Given the description of an element on the screen output the (x, y) to click on. 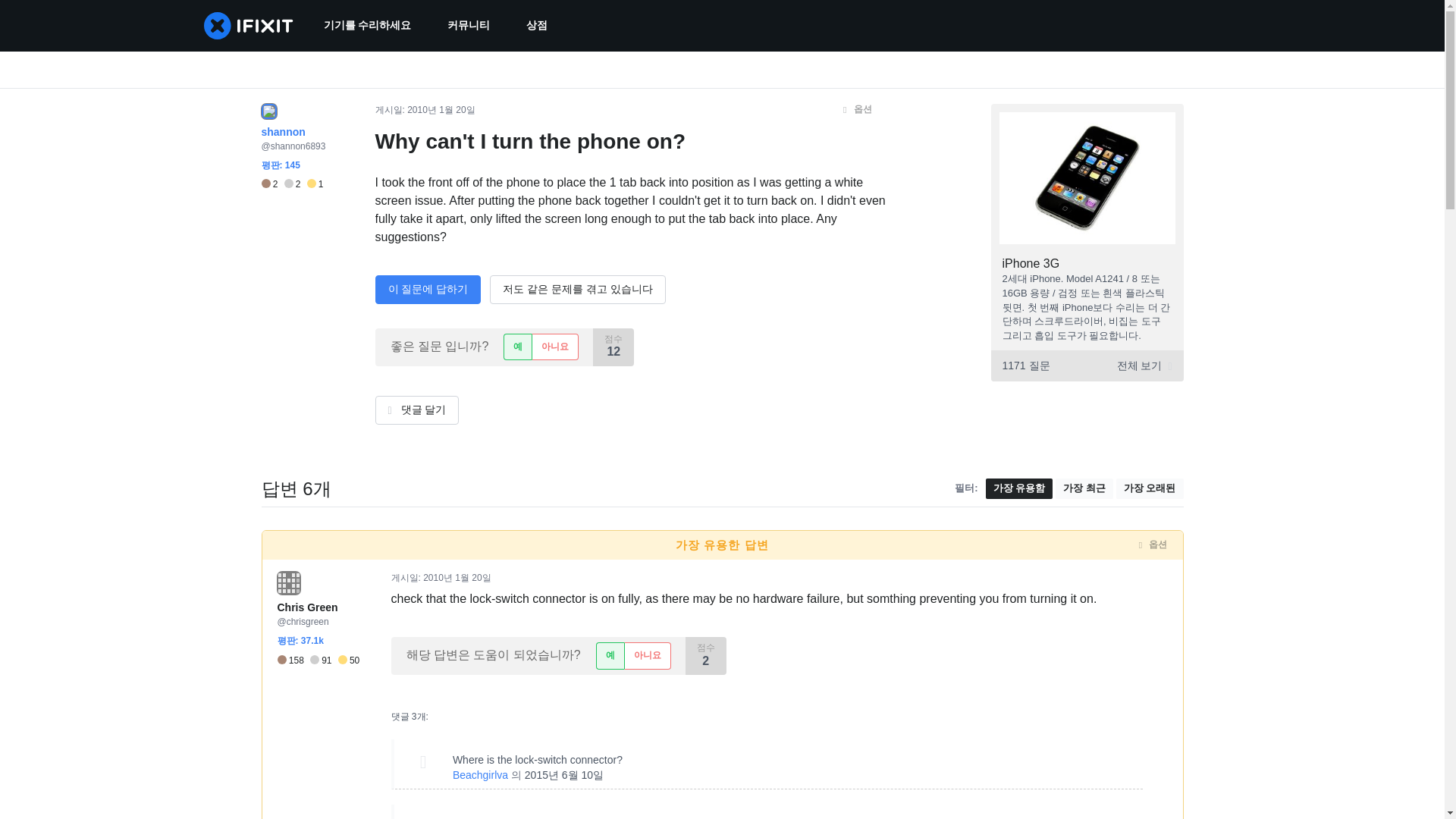
Wed, 20 Jan 2010 17:16:56 -0700 (456, 577)
Beachgirlva (480, 775)
Wed, 20 Jan 2010 17:15:27 -0700 (440, 109)
158 91 50 (318, 659)
Wed, 10 Jun 2015 13:38:54 -0700 (564, 775)
iPhone 3G (1031, 263)
2 2 1 (291, 184)
